Given the description of an element on the screen output the (x, y) to click on. 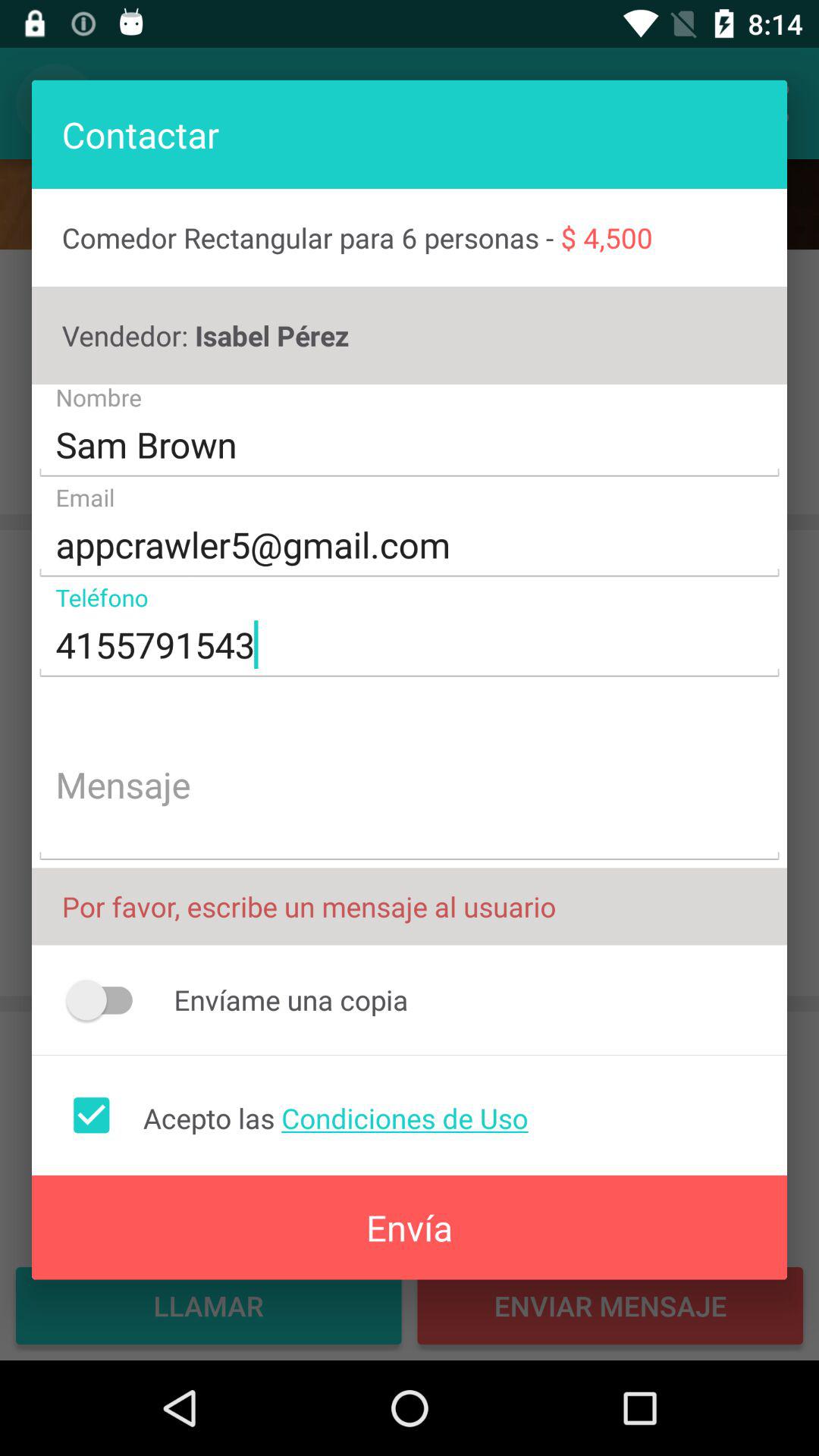
turn off the icon above the 4155791543 (409, 545)
